Given the description of an element on the screen output the (x, y) to click on. 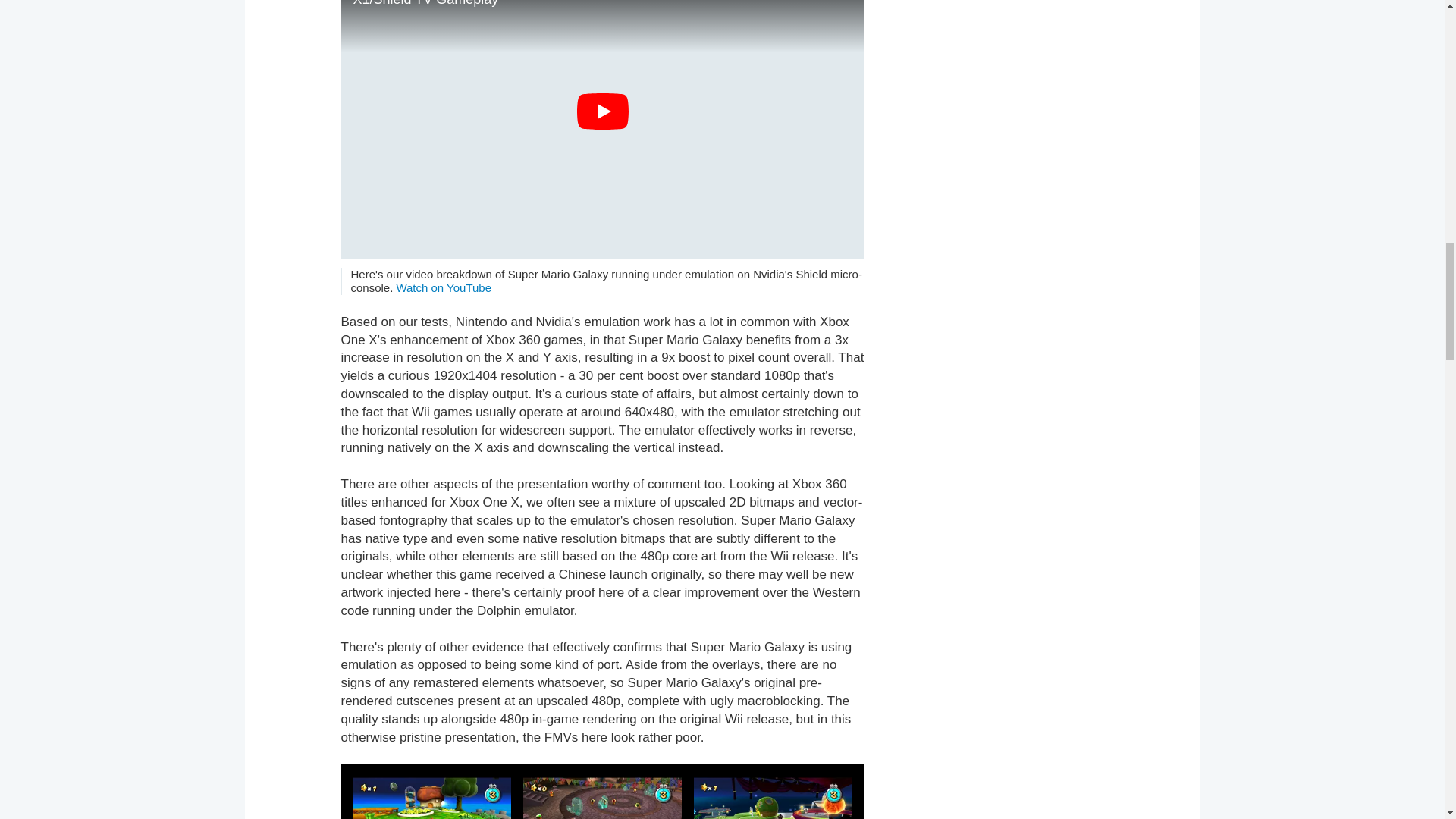
Watch on YouTube (444, 287)
